Given the description of an element on the screen output the (x, y) to click on. 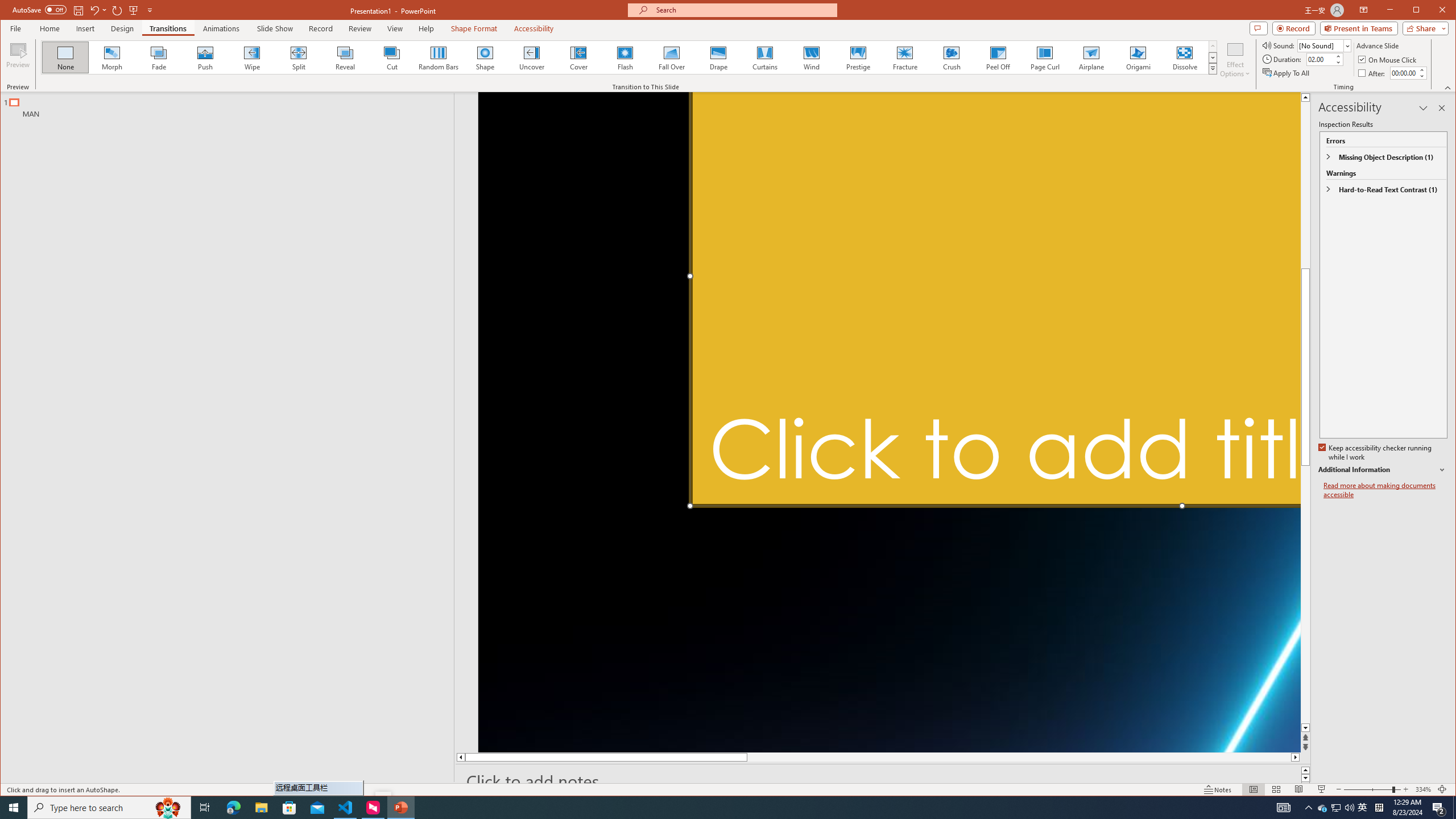
Transition Effects (1212, 68)
Sound (1324, 45)
None (65, 57)
Page Curl (1045, 57)
